Given the description of an element on the screen output the (x, y) to click on. 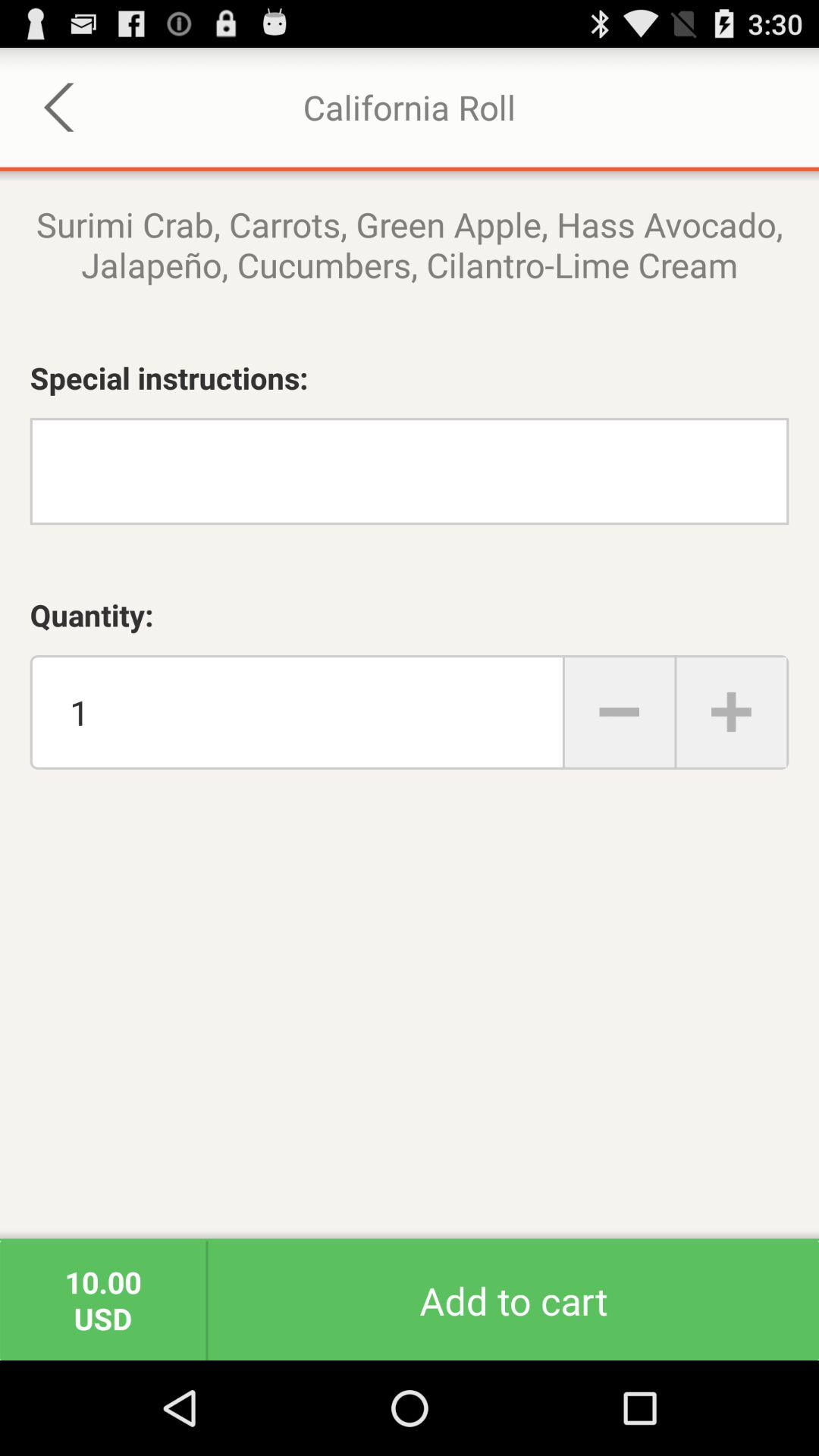
select    button on page (619, 712)
select the arrow icon on top left corner (60, 107)
